Given the description of an element on the screen output the (x, y) to click on. 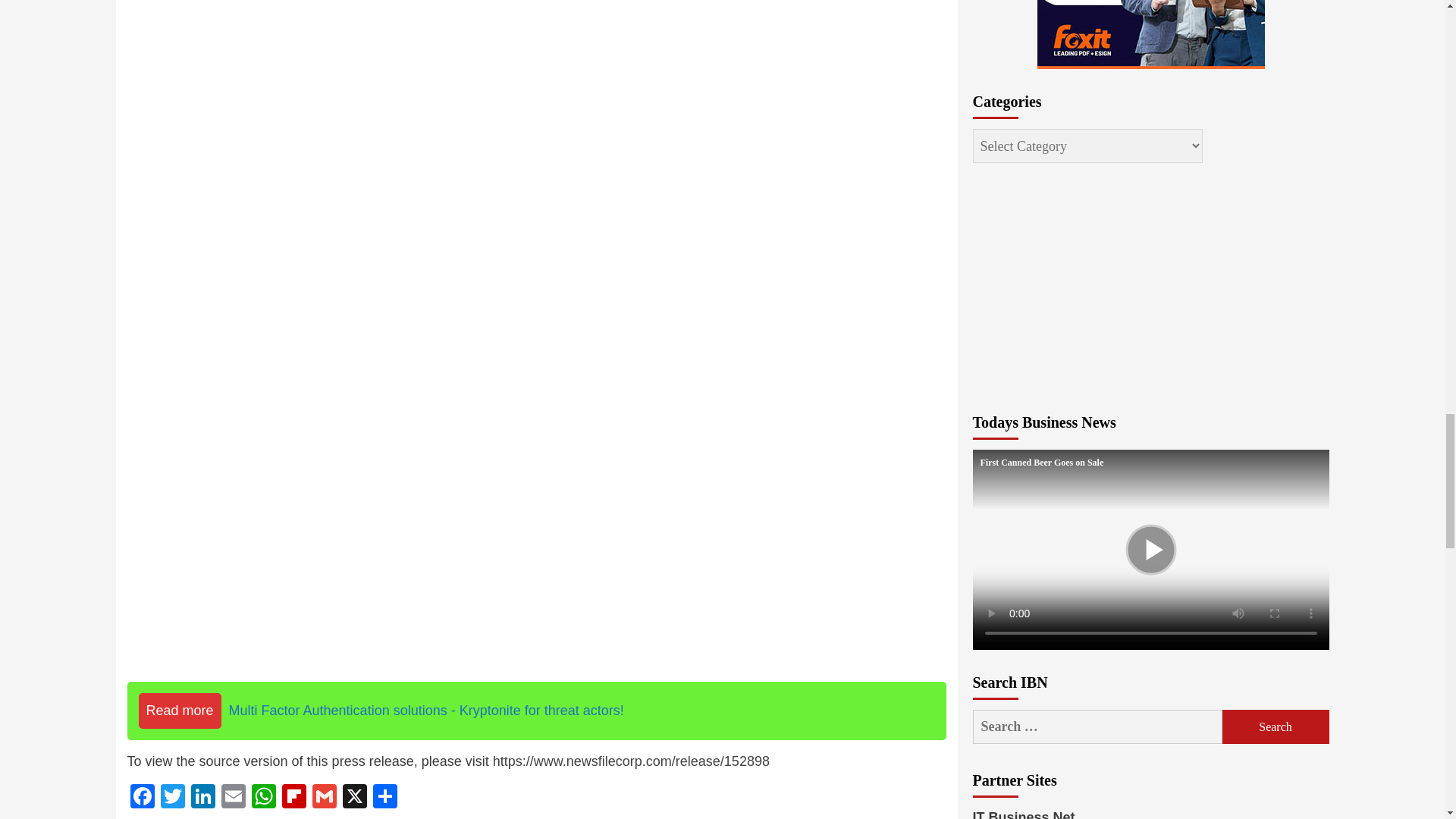
LinkedIn (202, 797)
Flipboard (293, 797)
LinkedIn (202, 797)
WhatsApp (263, 797)
Email (233, 797)
Facebook (142, 797)
WhatsApp (263, 797)
X (354, 797)
Facebook (142, 797)
